Given the description of an element on the screen output the (x, y) to click on. 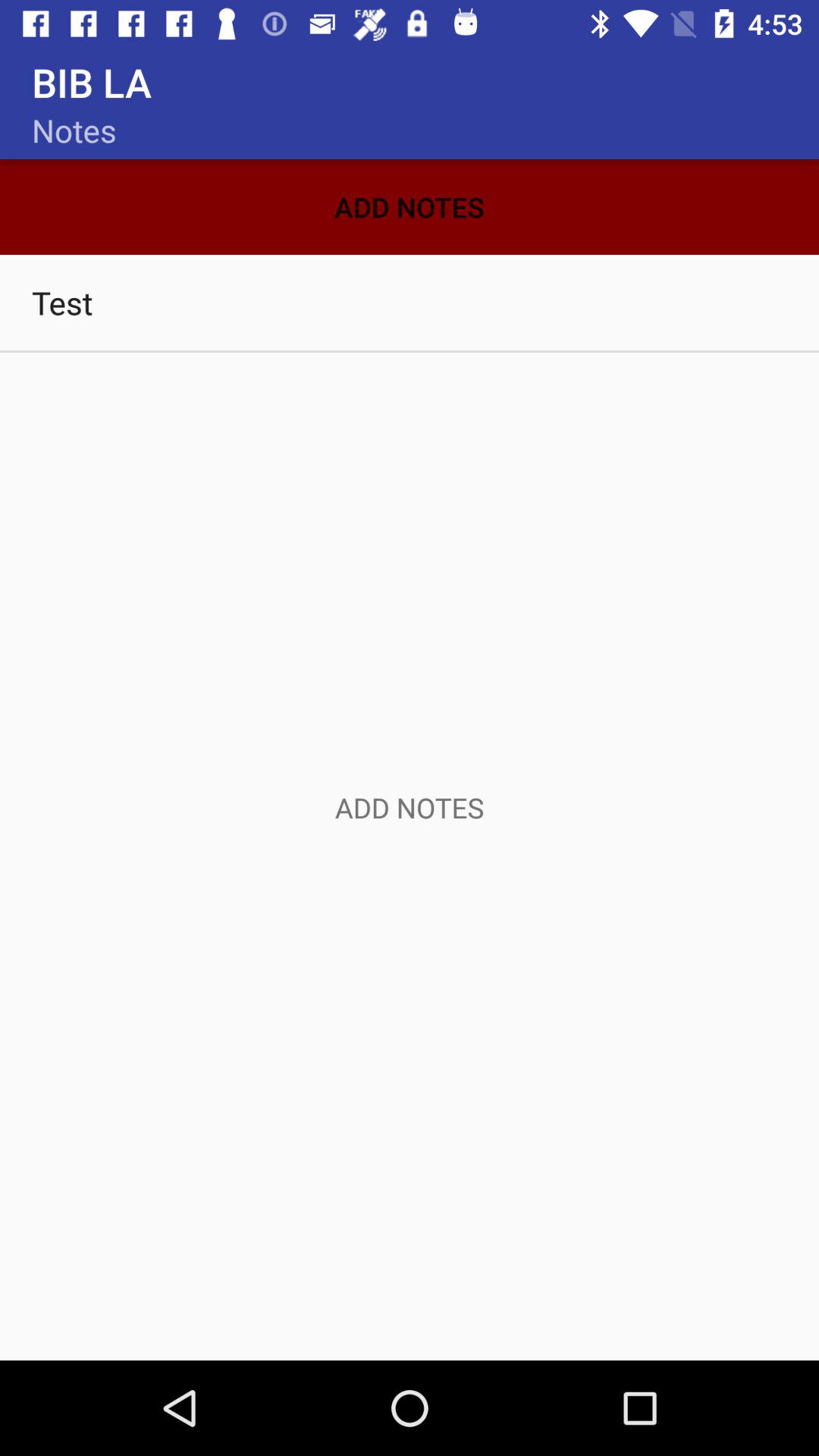
select icon below the add notes icon (409, 302)
